Given the description of an element on the screen output the (x, y) to click on. 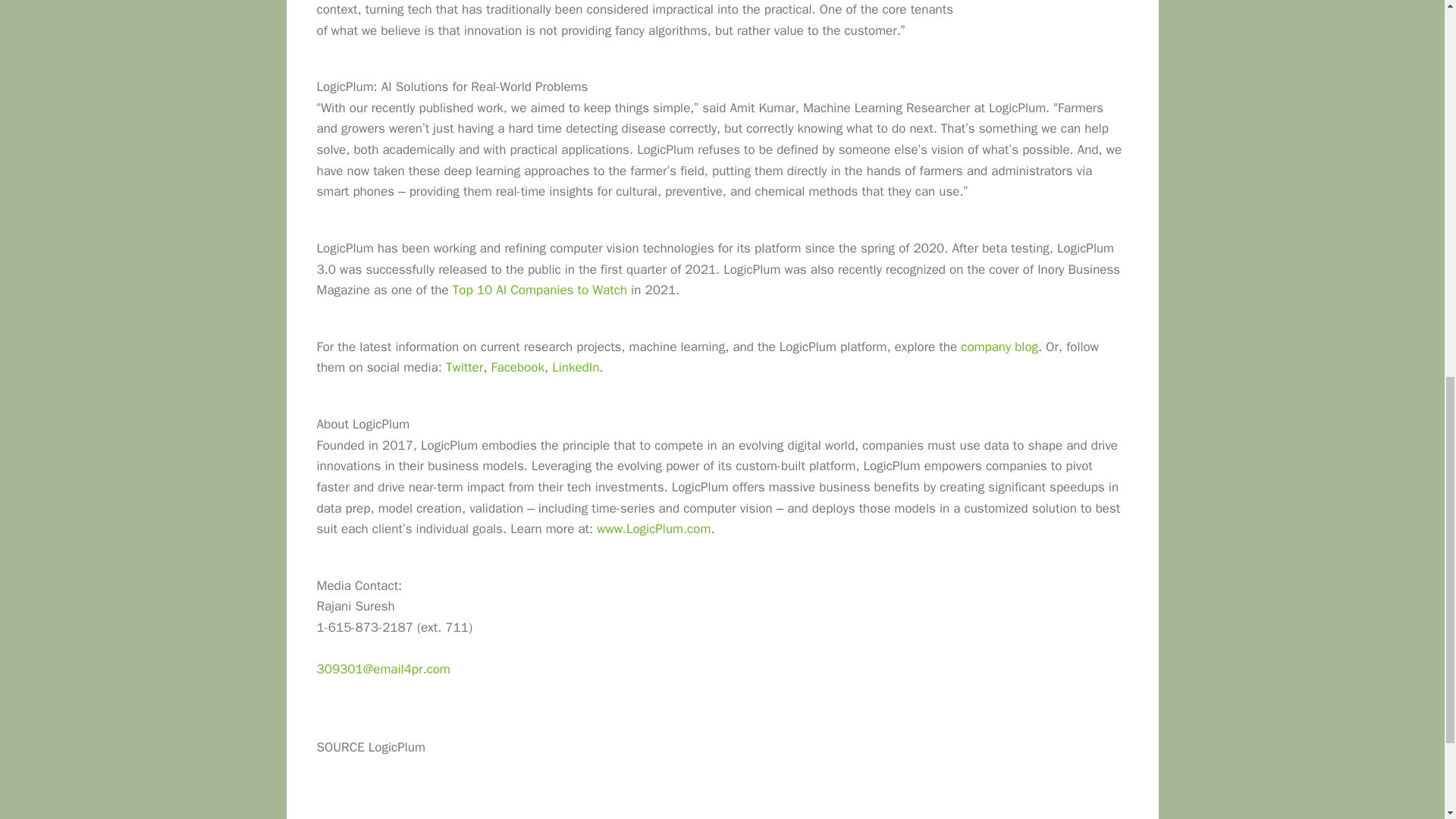
Top 10 AI Companies to Watch (539, 289)
Twitter (464, 367)
company blog (999, 346)
www.LogicPlum.com (653, 528)
Facebook (517, 367)
LinkedIn (574, 367)
